Given the description of an element on the screen output the (x, y) to click on. 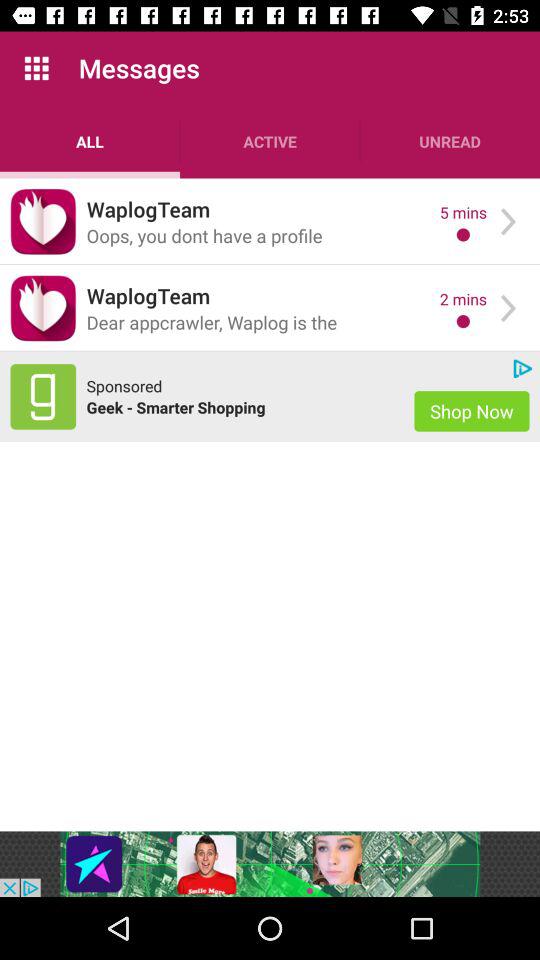
go to advertisement (43, 396)
